Given the description of an element on the screen output the (x, y) to click on. 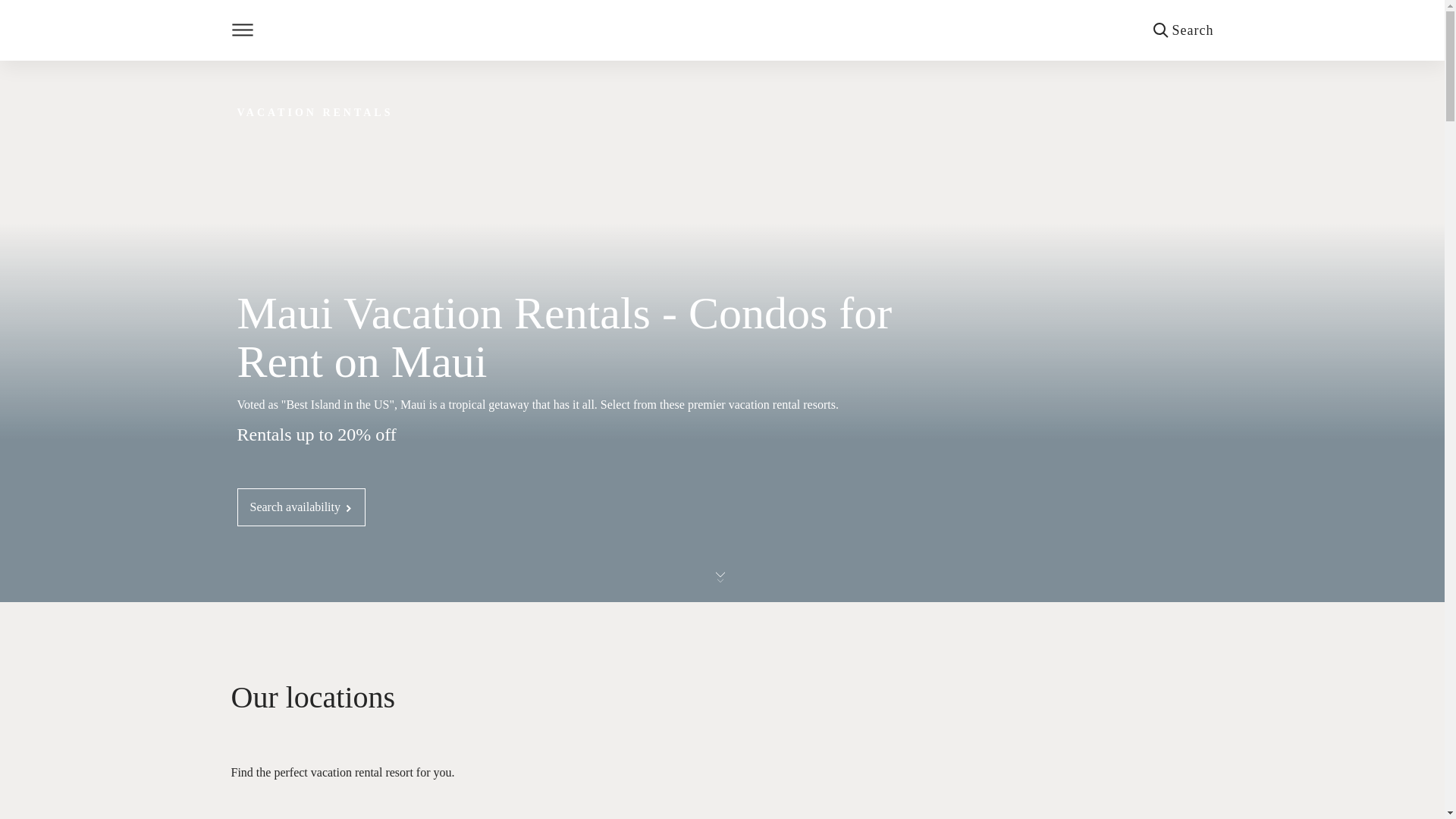
Search (1183, 30)
HVC Maps (721, 806)
Search availability (300, 507)
